Given the description of an element on the screen output the (x, y) to click on. 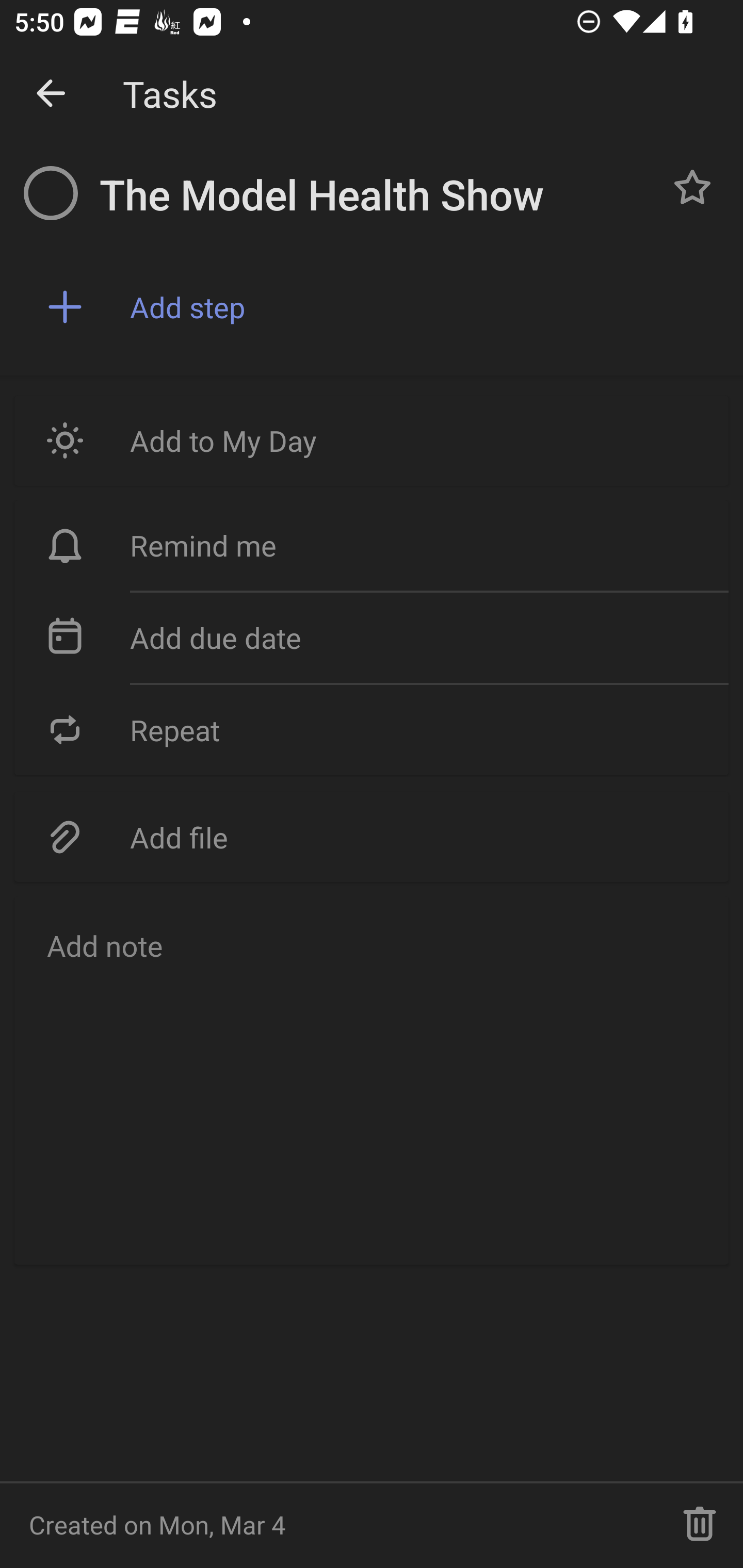
Dismiss detail view (50, 93)
Incomplete task The Model Health Show, Button (50, 192)
The Model Health Show (374, 195)
Normal task The Model Health Show, Button (692, 187)
Add step (422, 307)
Add to My Day (371, 440)
Remind me (371, 545)
Add due date (371, 637)
Repeat (371, 729)
Add file (371, 836)
Add note, Button Email Renderer Add note (371, 1080)
Delete task (699, 1524)
